Given the description of an element on the screen output the (x, y) to click on. 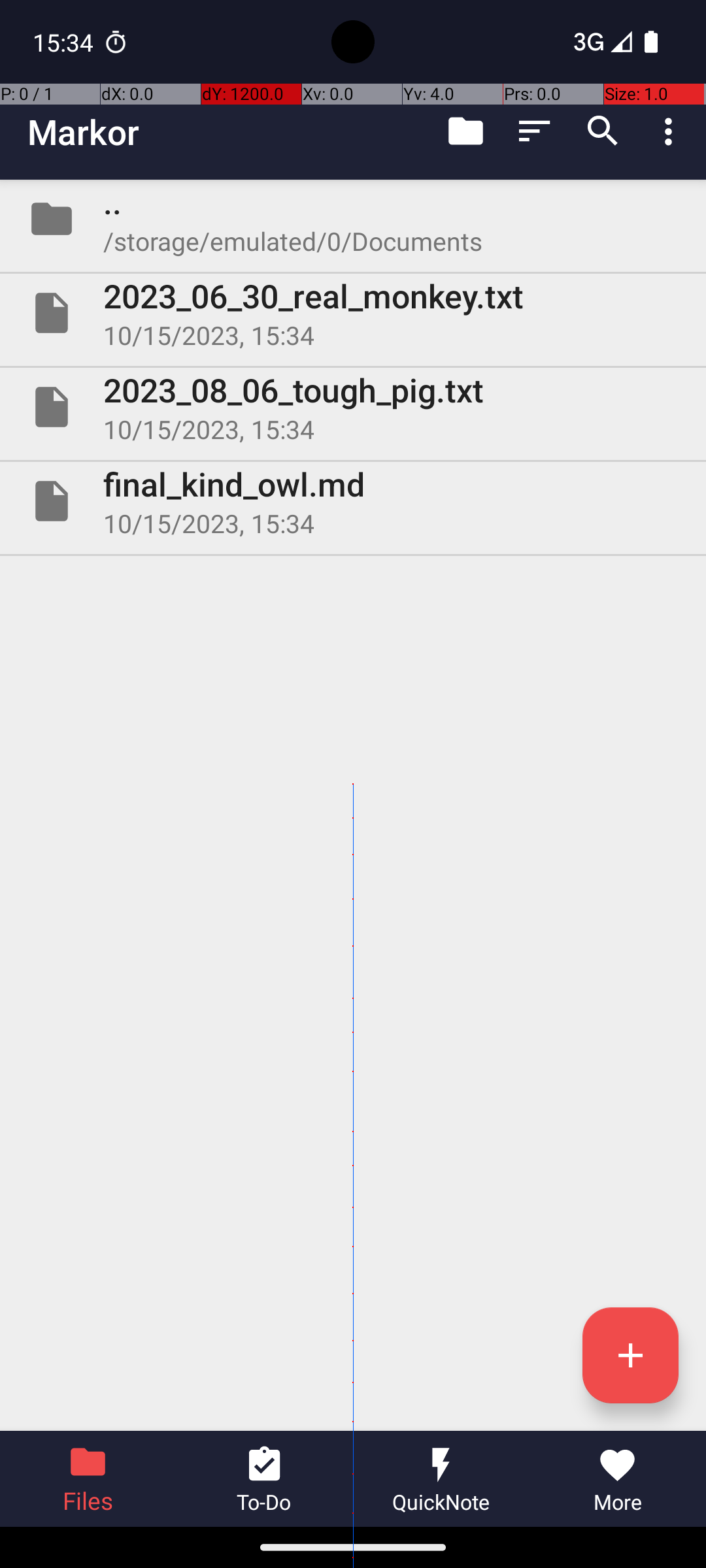
File 2023_06_30_real_monkey.txt  Element type: android.widget.LinearLayout (353, 312)
File 2023_08_06_tough_pig.txt  Element type: android.widget.LinearLayout (353, 406)
File final_kind_owl.md  Element type: android.widget.LinearLayout (353, 500)
